Given the description of an element on the screen output the (x, y) to click on. 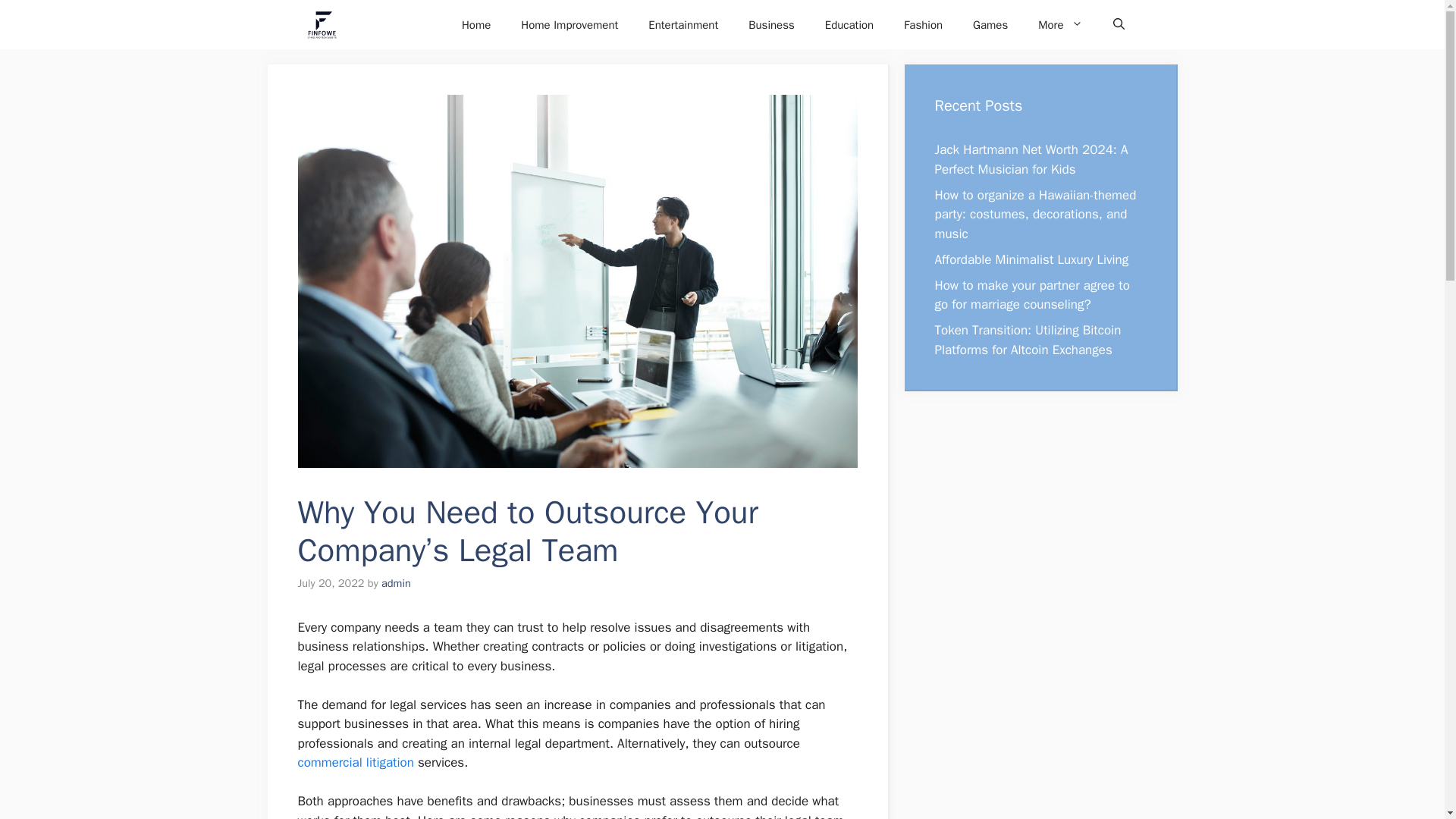
Games (990, 23)
commercial litigation (355, 762)
Affordable Minimalist Luxury Living (1031, 259)
More (1060, 23)
Entertainment (683, 23)
View all posts by admin (395, 582)
Fashion (923, 23)
Home Improvement (569, 23)
